Given the description of an element on the screen output the (x, y) to click on. 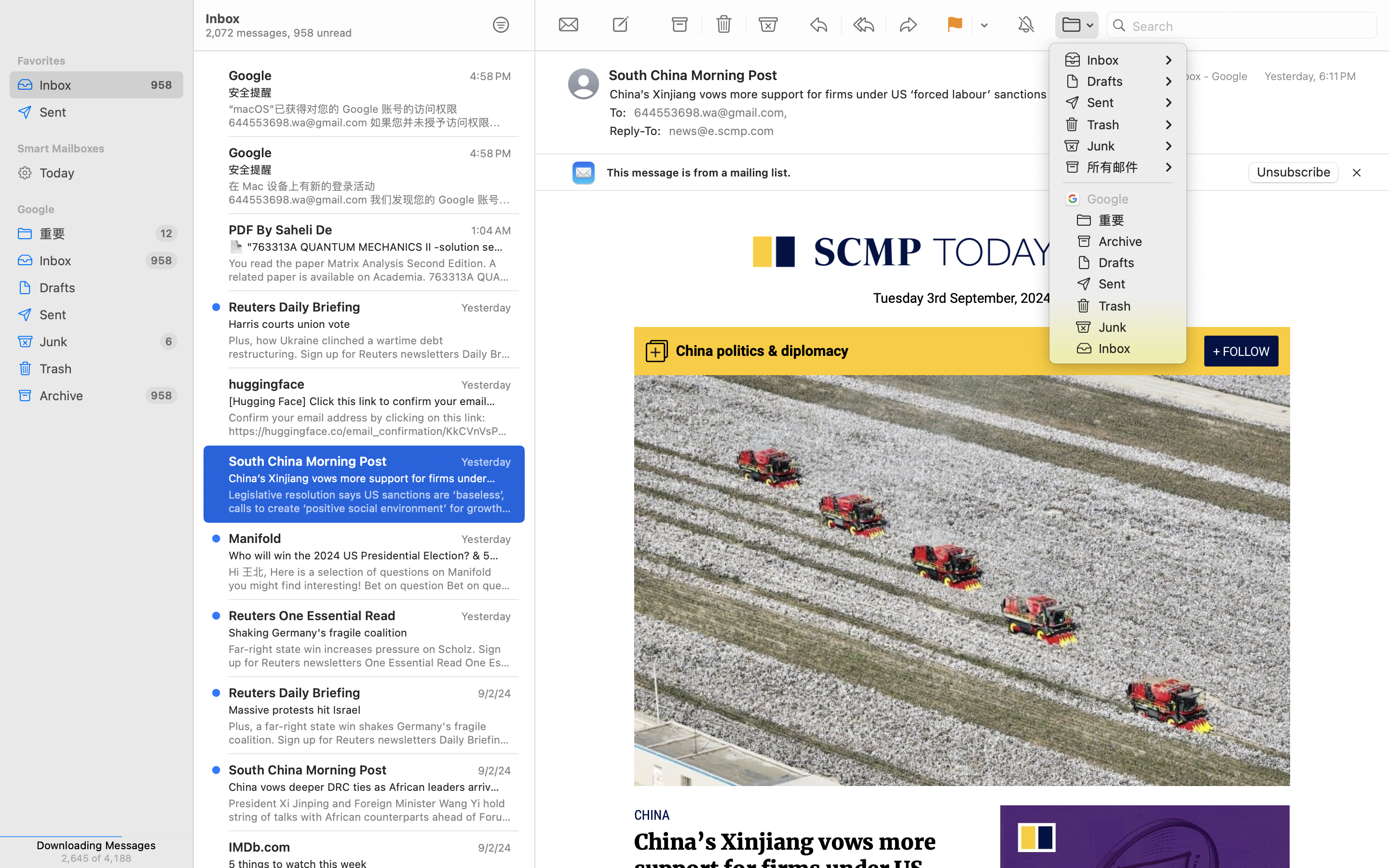
Hi 王北, Here is a selection of questions on Manifold you might find interesting! Bet on question Bet on question Bet on question Bet on question Bet on question Bet on question 🔎 Explore Manifold This e-mail has been sent to 王北, click here to unsubscribe from this type of notification. Element type: AXStaticText (369, 578)
Today Element type: AXTextField (107, 172)
重要 Element type: AXTextField (93, 233)
0 Element type: AXCheckBox (500, 25)
1:04 AM Element type: AXStaticText (490, 230)
